Given the description of an element on the screen output the (x, y) to click on. 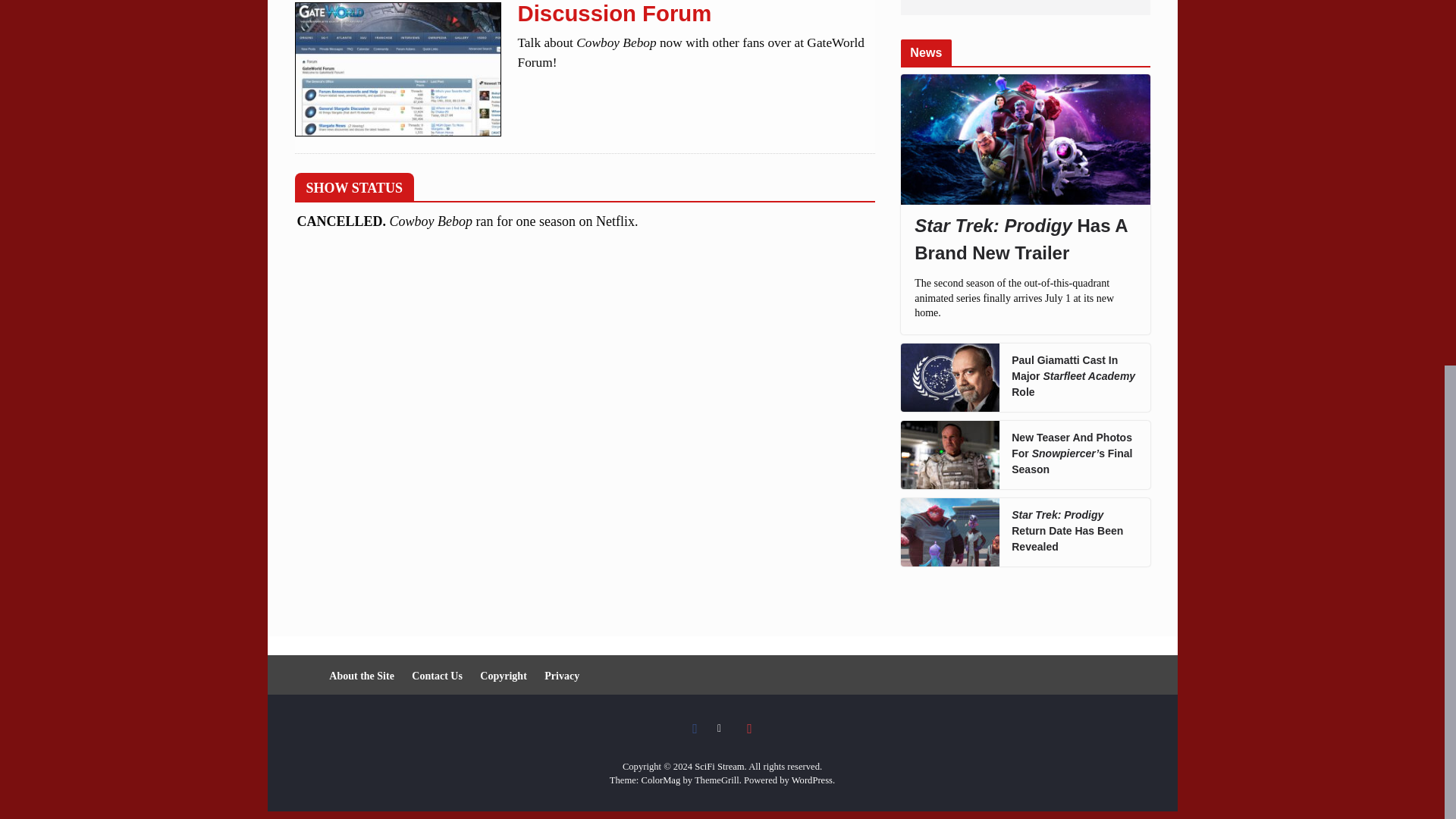
Paul Giamatti Cast In Major Starfleet Academy Role (1074, 376)
Paul Giamatti Cast In Major Starfleet Academy Role (949, 377)
Advertisement (1025, 7)
Star Trek: Prodigy Has A Brand New Trailer (1025, 139)
Star Trek: Prodigy Has A Brand New Trailer (1024, 239)
